Given the description of an element on the screen output the (x, y) to click on. 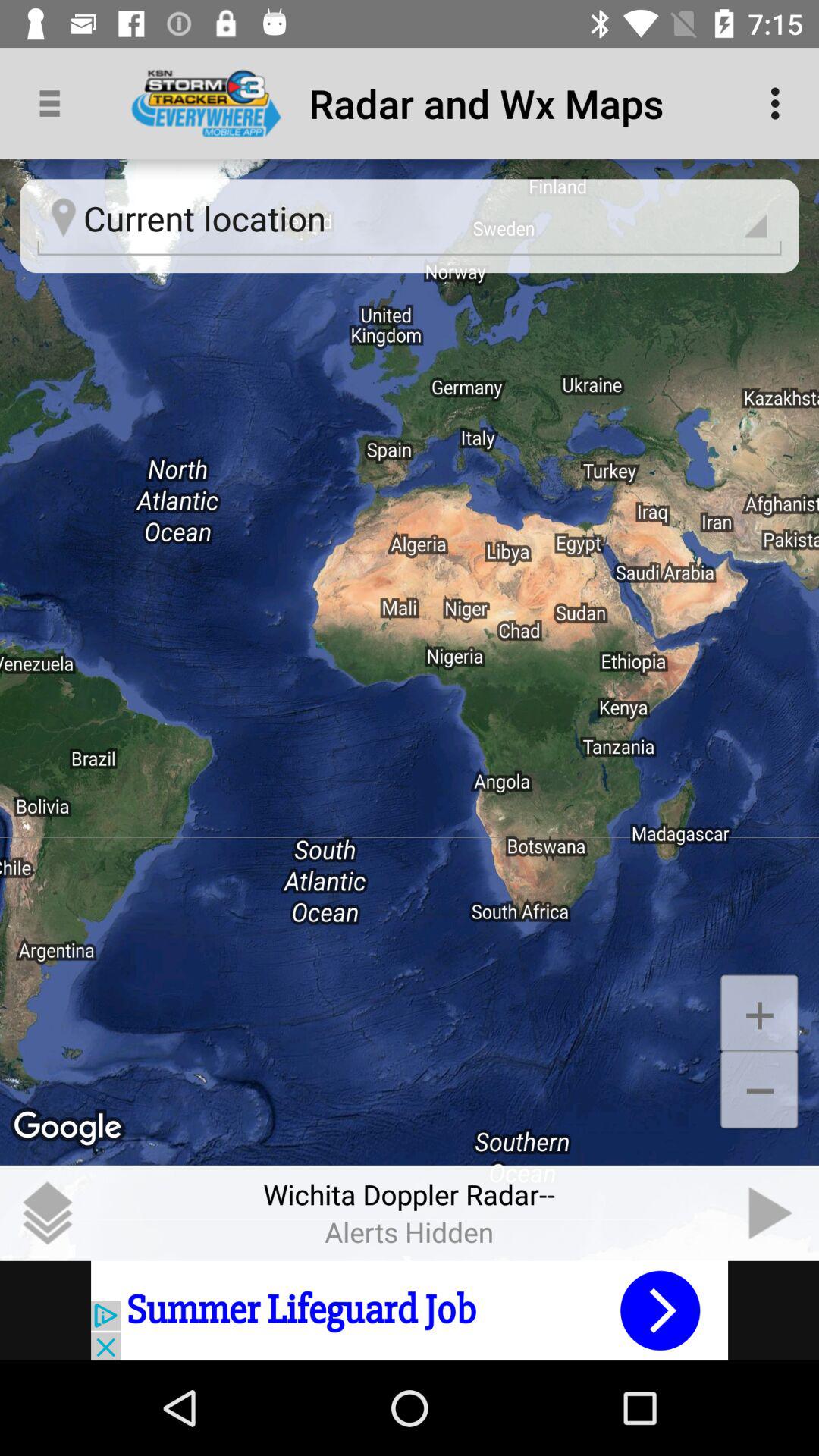
advertisement (409, 1310)
